Given the description of an element on the screen output the (x, y) to click on. 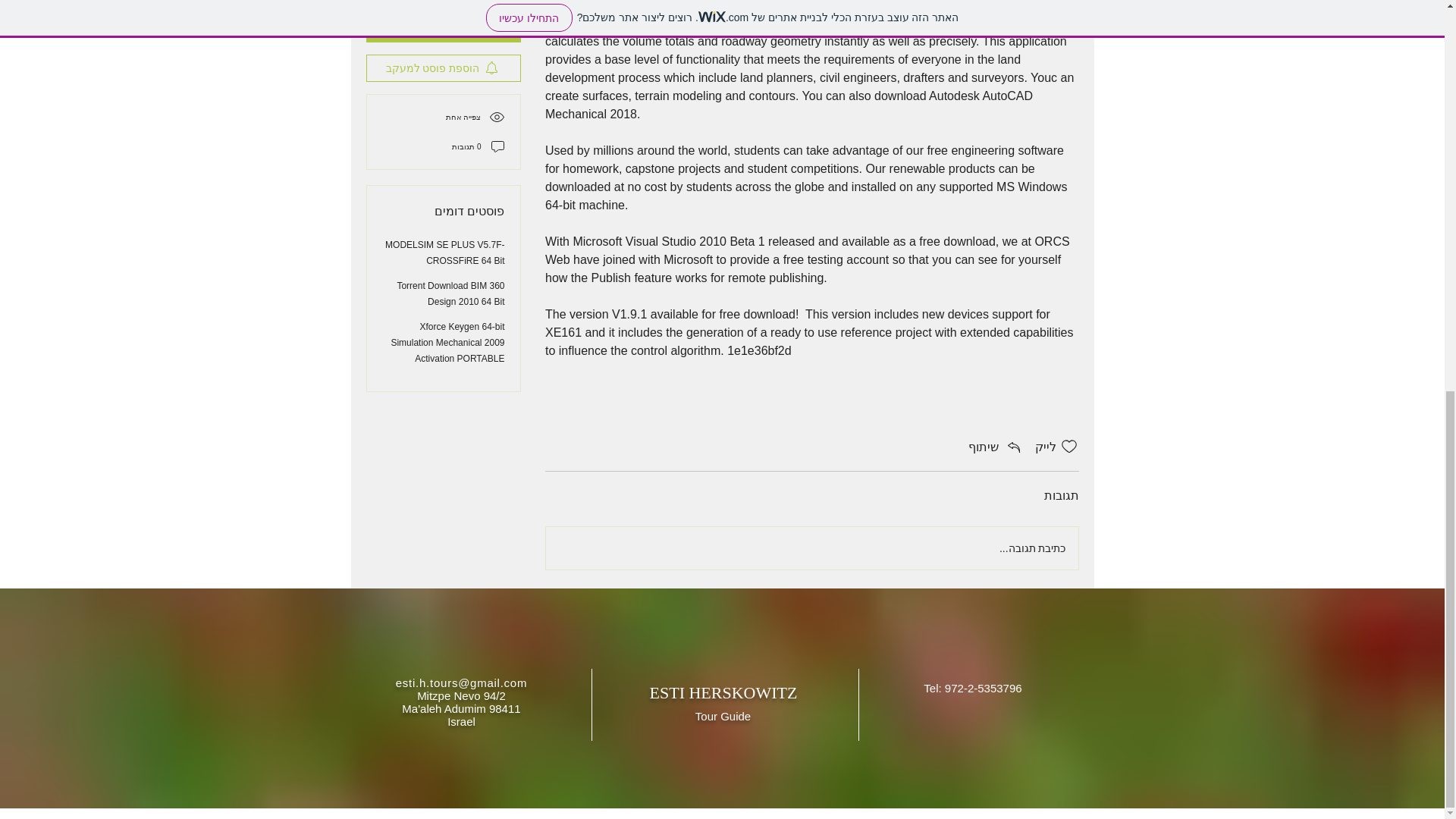
ESTI HERSKOWITZ (723, 692)
Tour Guide (723, 716)
